Given the description of an element on the screen output the (x, y) to click on. 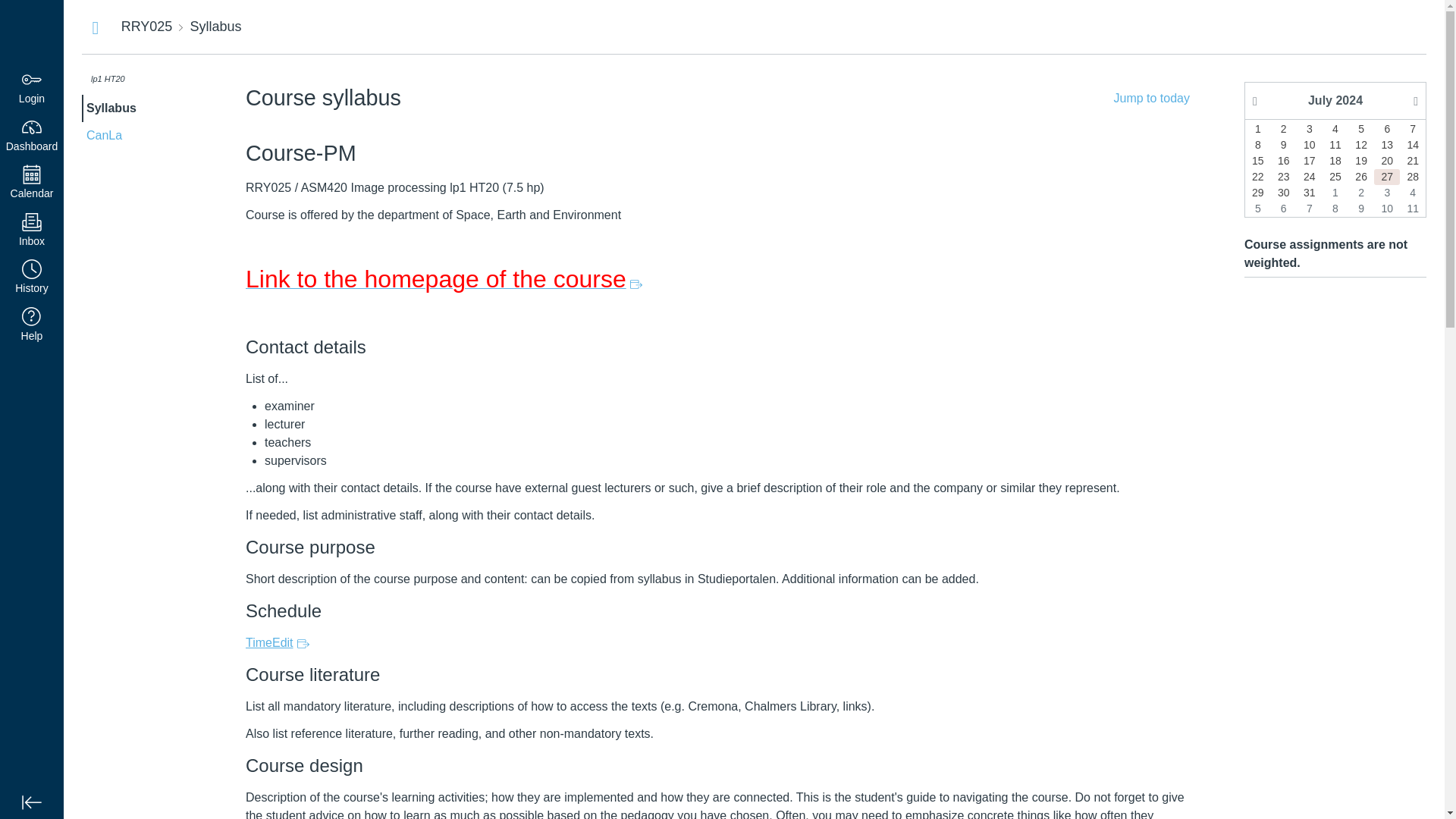
Login (32, 88)
Inbox (32, 230)
Dashboard (32, 135)
Syllabus (140, 108)
Dashboard (32, 32)
Help (32, 325)
Jump to today (1151, 97)
Calendar (277, 642)
Minimise global navigation (32, 182)
CanLa (32, 802)
History (140, 135)
